Given the description of an element on the screen output the (x, y) to click on. 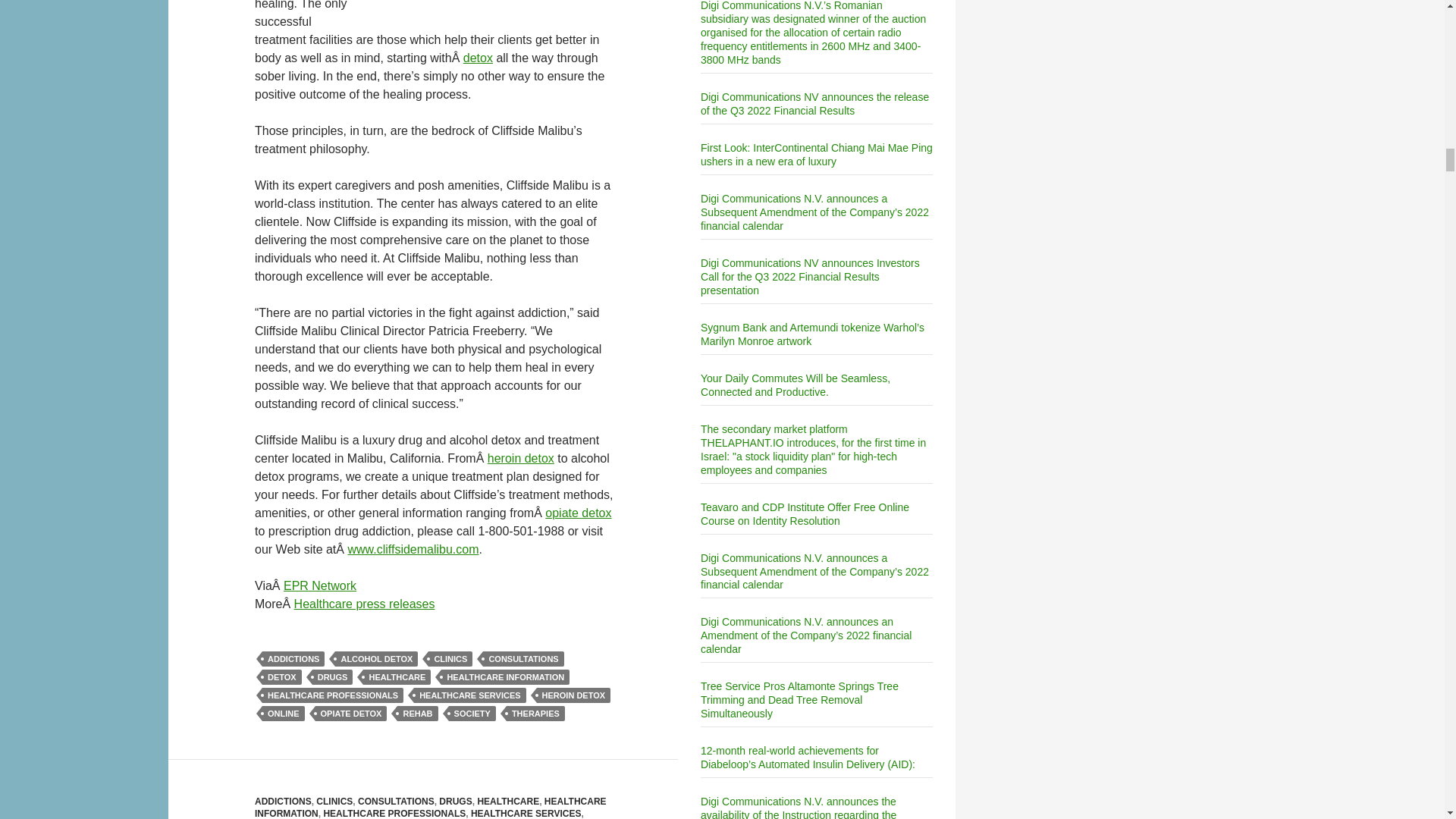
Cliffside Malibu Detox (478, 57)
Cliffside Malibu Opiate Detox (577, 512)
Cliffside Malibu Heroin Detox (520, 458)
